Given the description of an element on the screen output the (x, y) to click on. 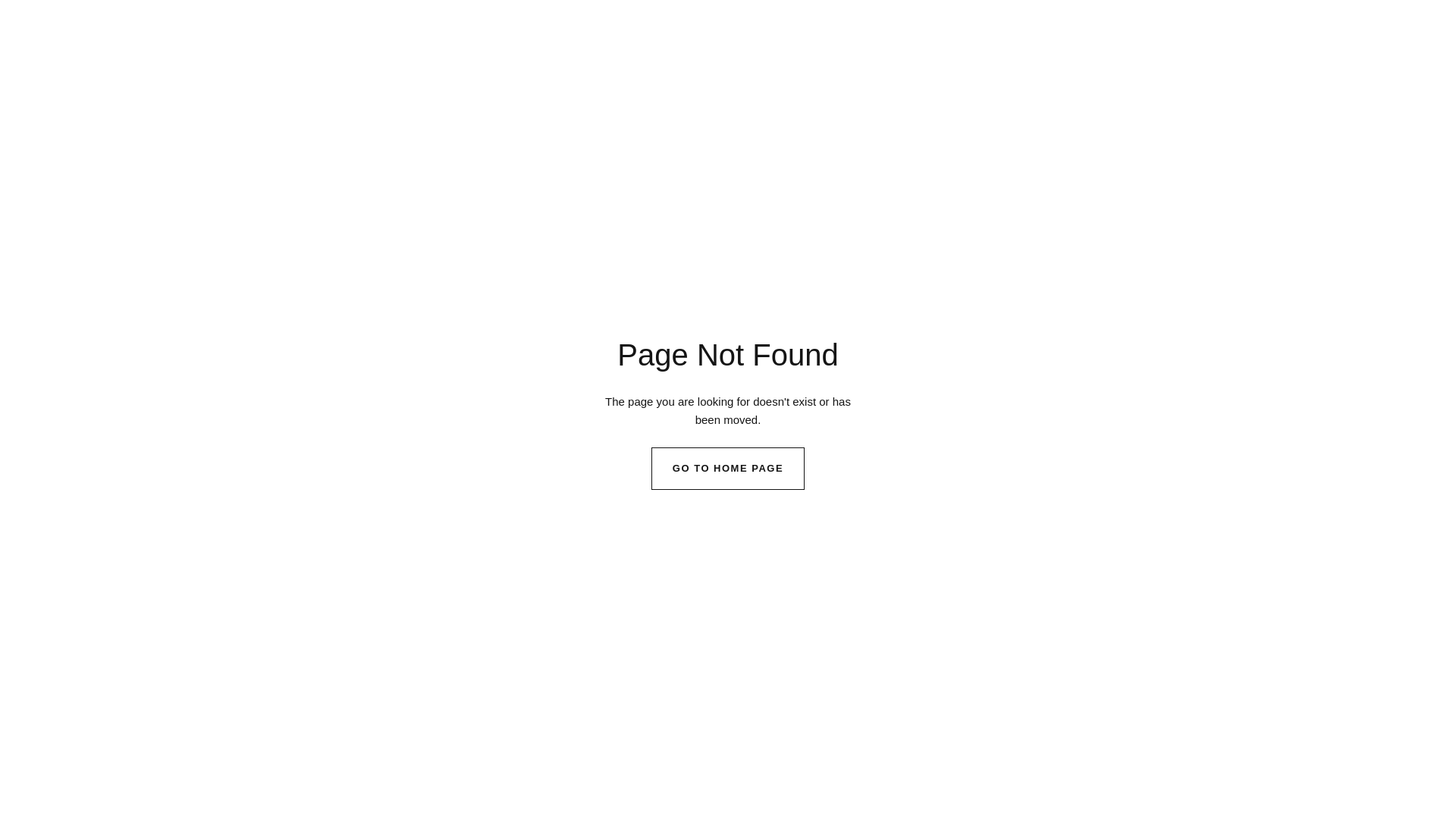
GO TO HOME PAGE Element type: text (727, 468)
